Given the description of an element on the screen output the (x, y) to click on. 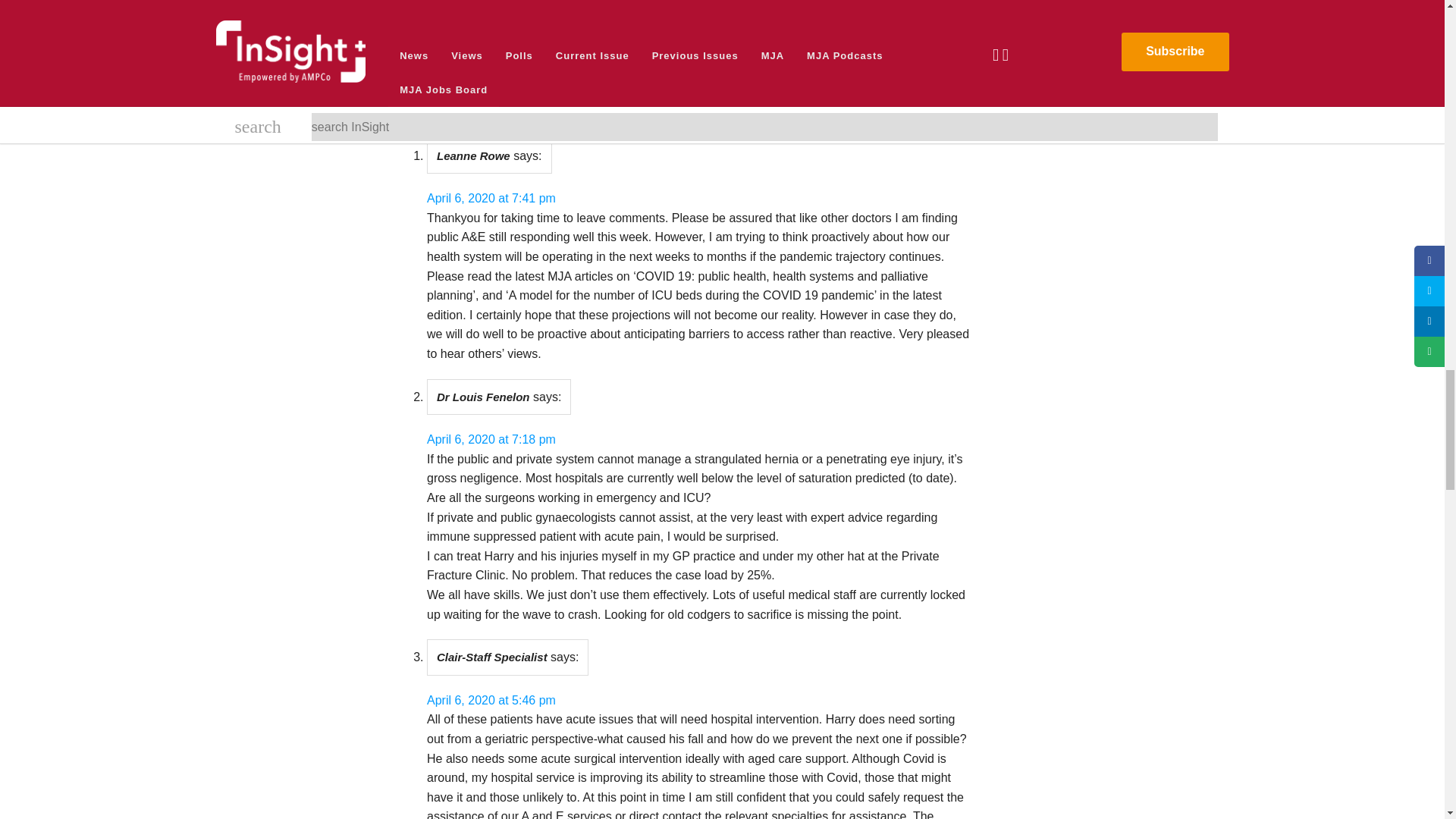
April 6, 2020 at 7:41 pm (491, 197)
Older polls (451, 43)
